Given the description of an element on the screen output the (x, y) to click on. 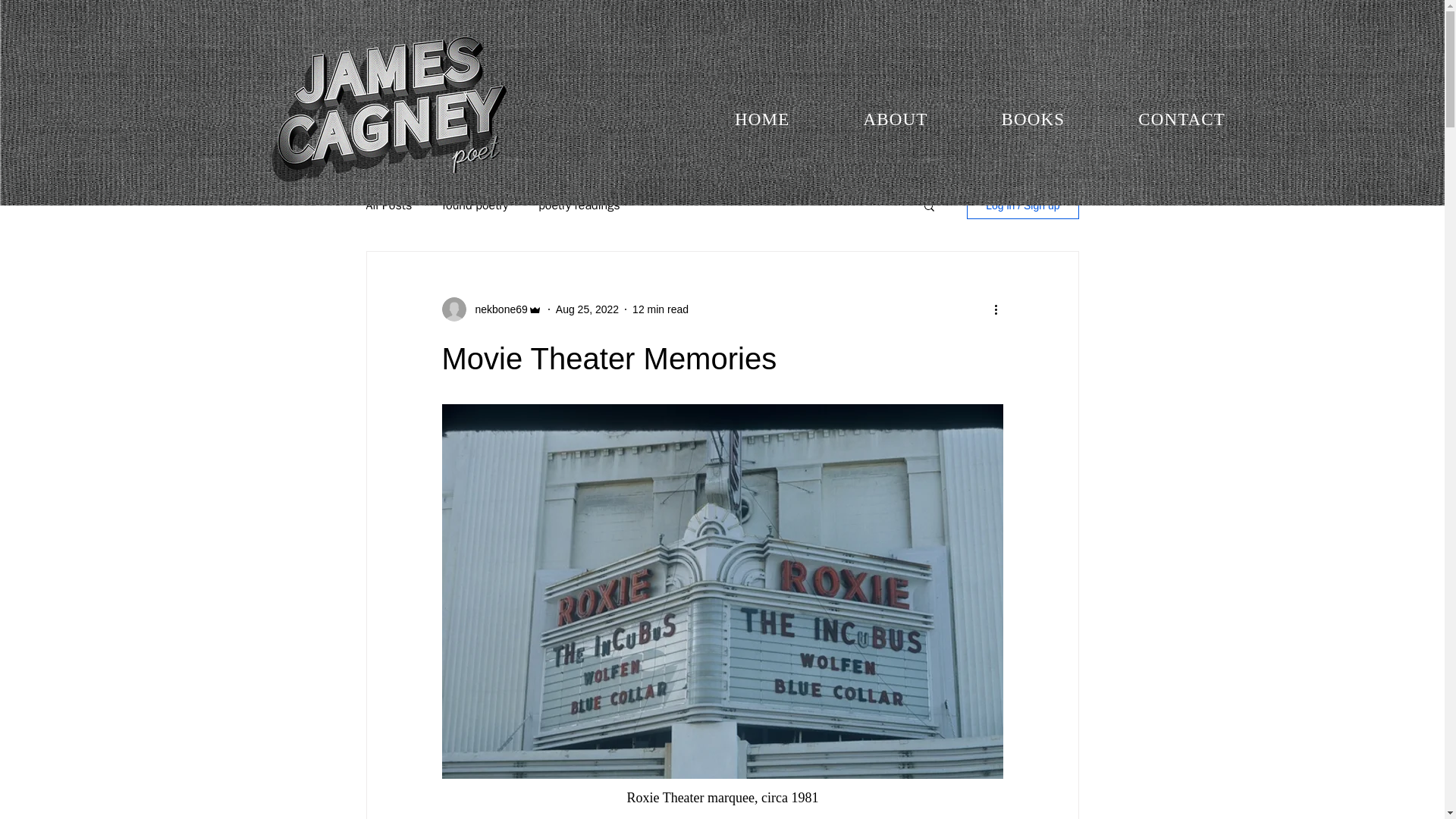
HOME (761, 119)
found poetry (475, 204)
Aug 25, 2022 (587, 309)
CONTACT (1182, 119)
poetry readings (579, 204)
12 min read (659, 309)
nekbone69 (496, 309)
All Posts (388, 204)
ABOUT (894, 119)
BOOKS (1033, 119)
